Given the description of an element on the screen output the (x, y) to click on. 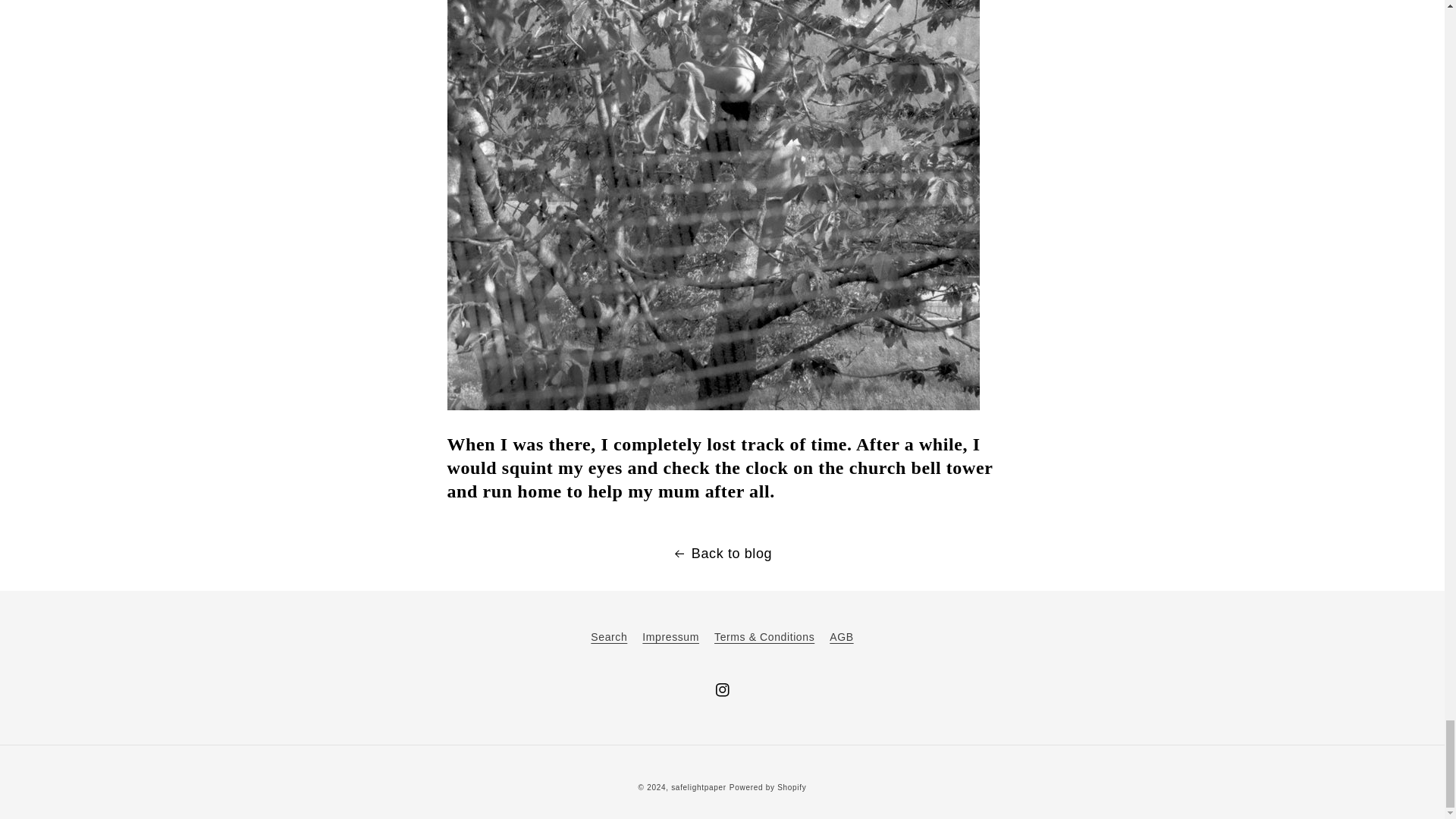
safelightpaper (698, 786)
Impressum (670, 636)
Search (609, 639)
Instagram (721, 689)
Powered by Shopify (767, 786)
